Given the description of an element on the screen output the (x, y) to click on. 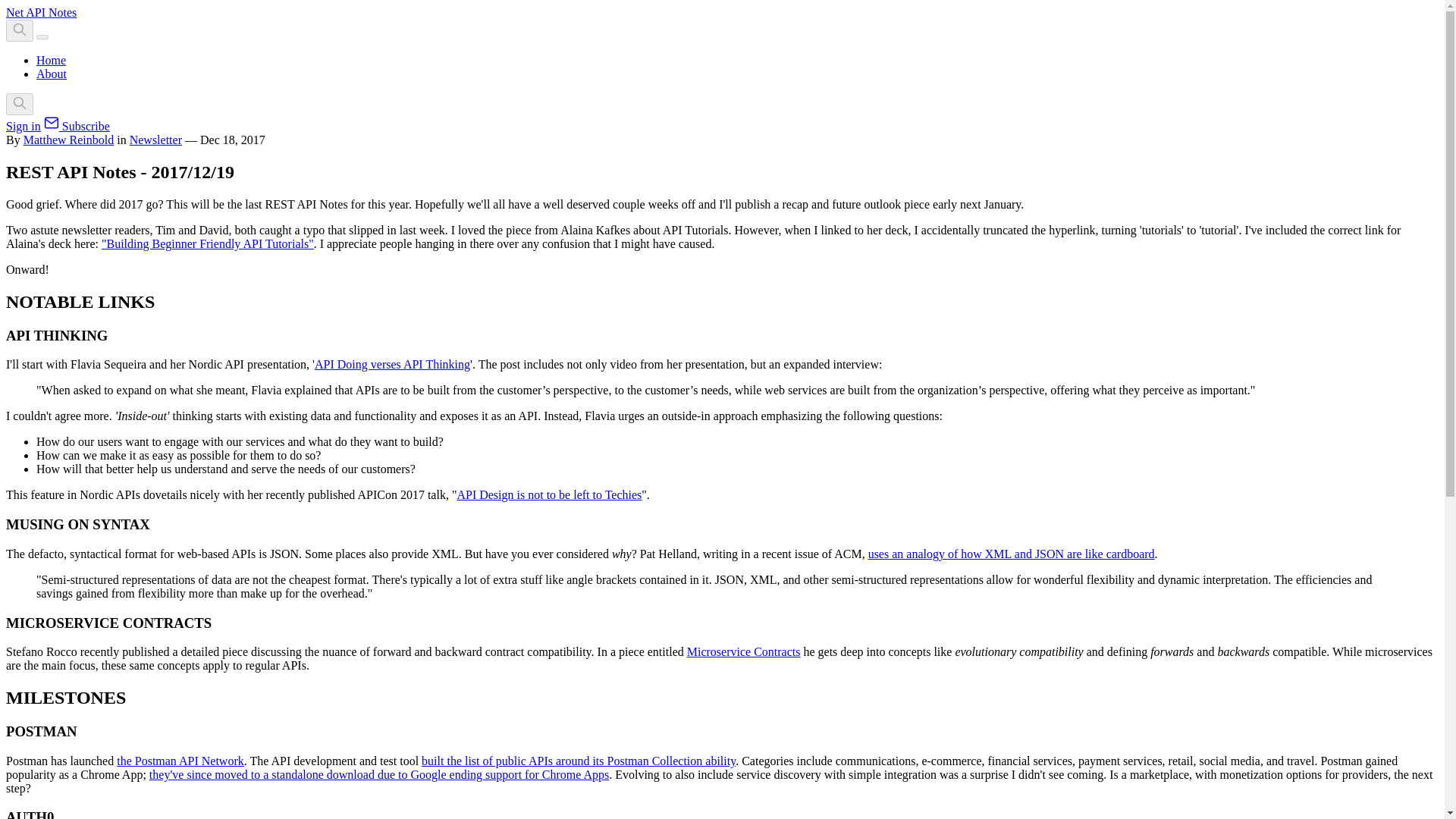
API Design is not to be left to Techies (549, 494)
Net API Notes (41, 11)
About (51, 73)
uses an analogy of how XML and JSON are like cardboard (1010, 553)
Home (50, 60)
Newsletter (155, 139)
Matthew Reinbold (69, 139)
API Doing verses API Thinking (392, 364)
